Given the description of an element on the screen output the (x, y) to click on. 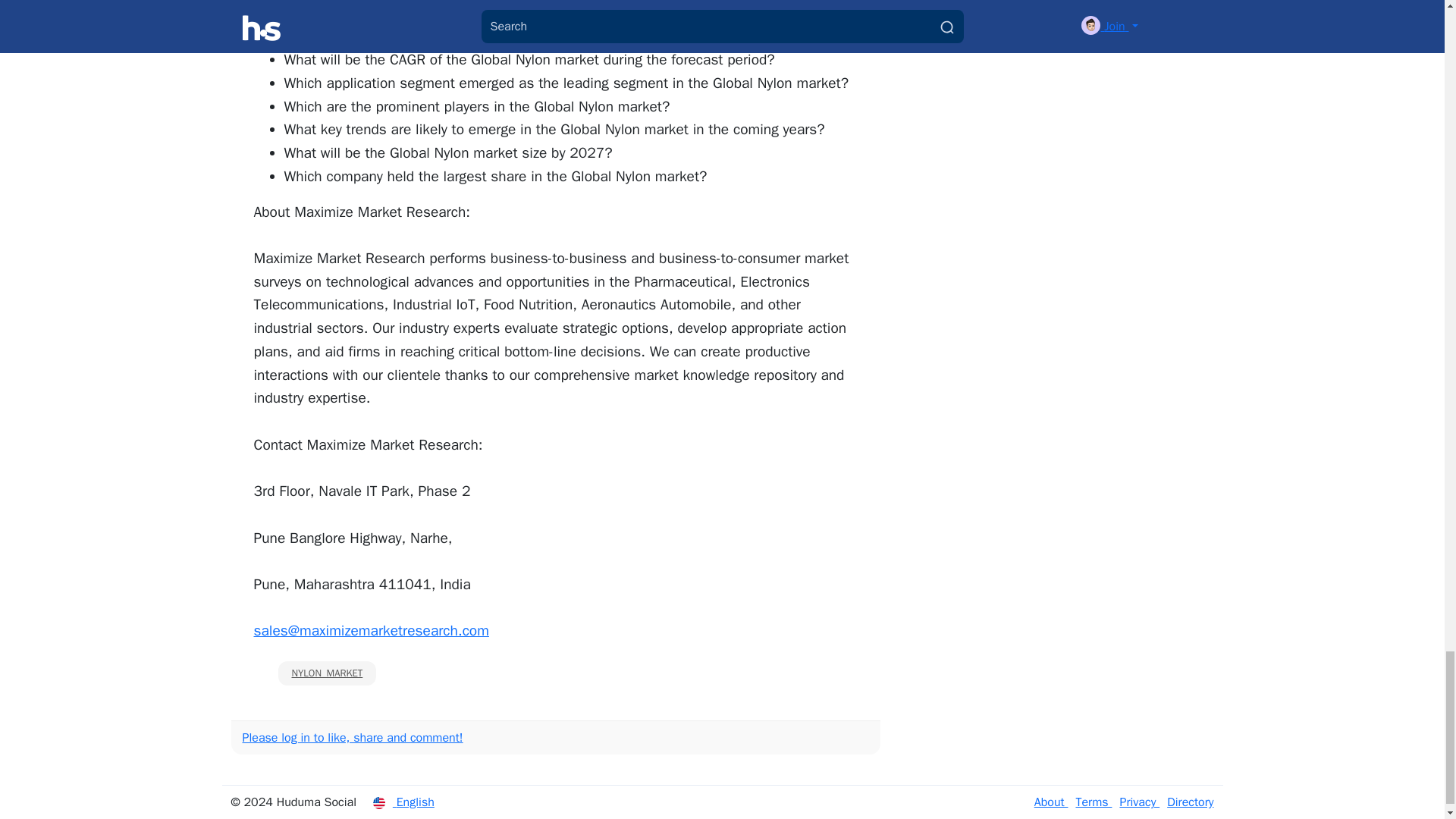
Please log in to like, share and comment! (353, 737)
